Given the description of an element on the screen output the (x, y) to click on. 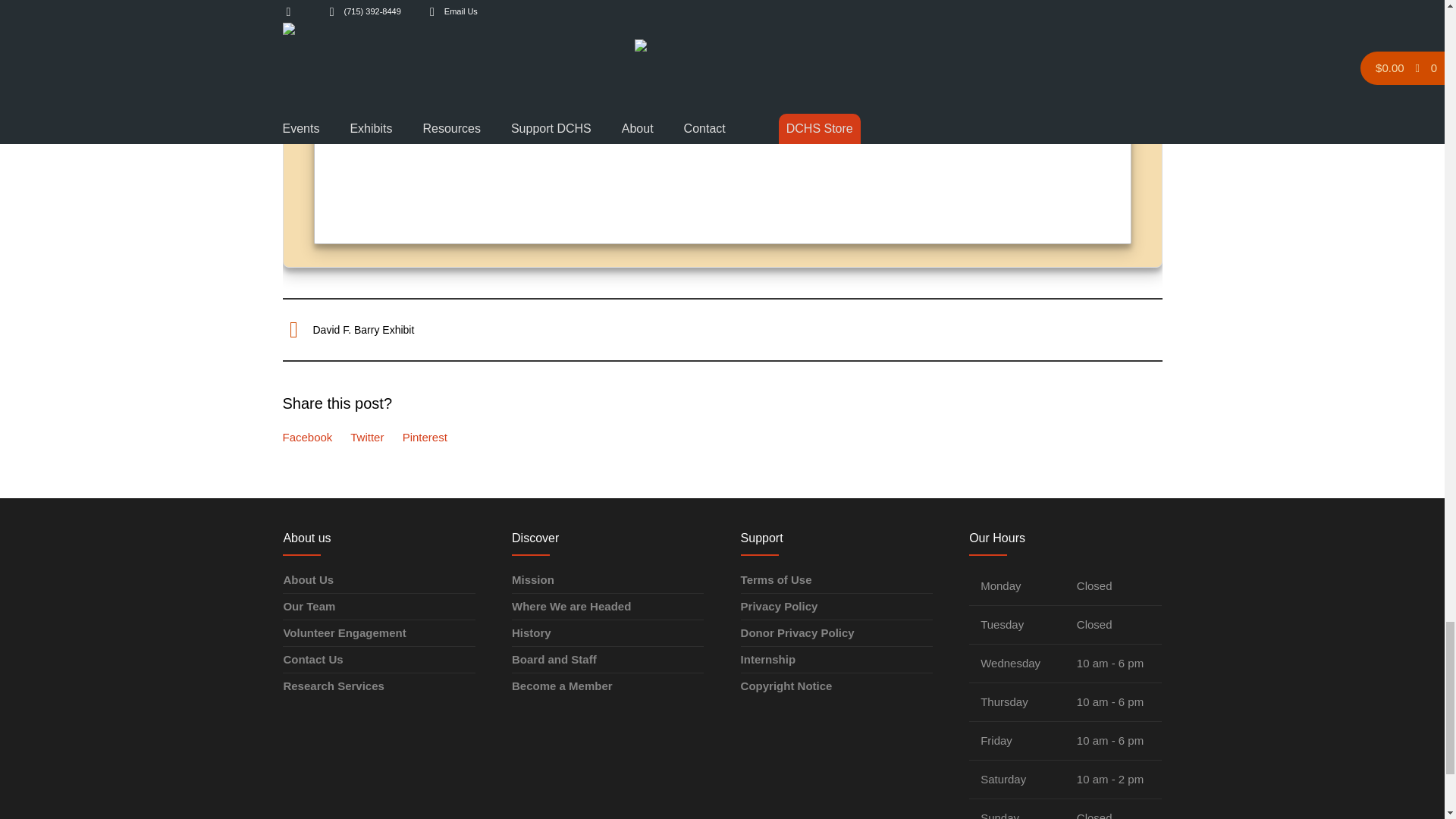
Facebook (306, 436)
Twitter (367, 436)
David F. Barry Exhibit (363, 329)
